Given the description of an element on the screen output the (x, y) to click on. 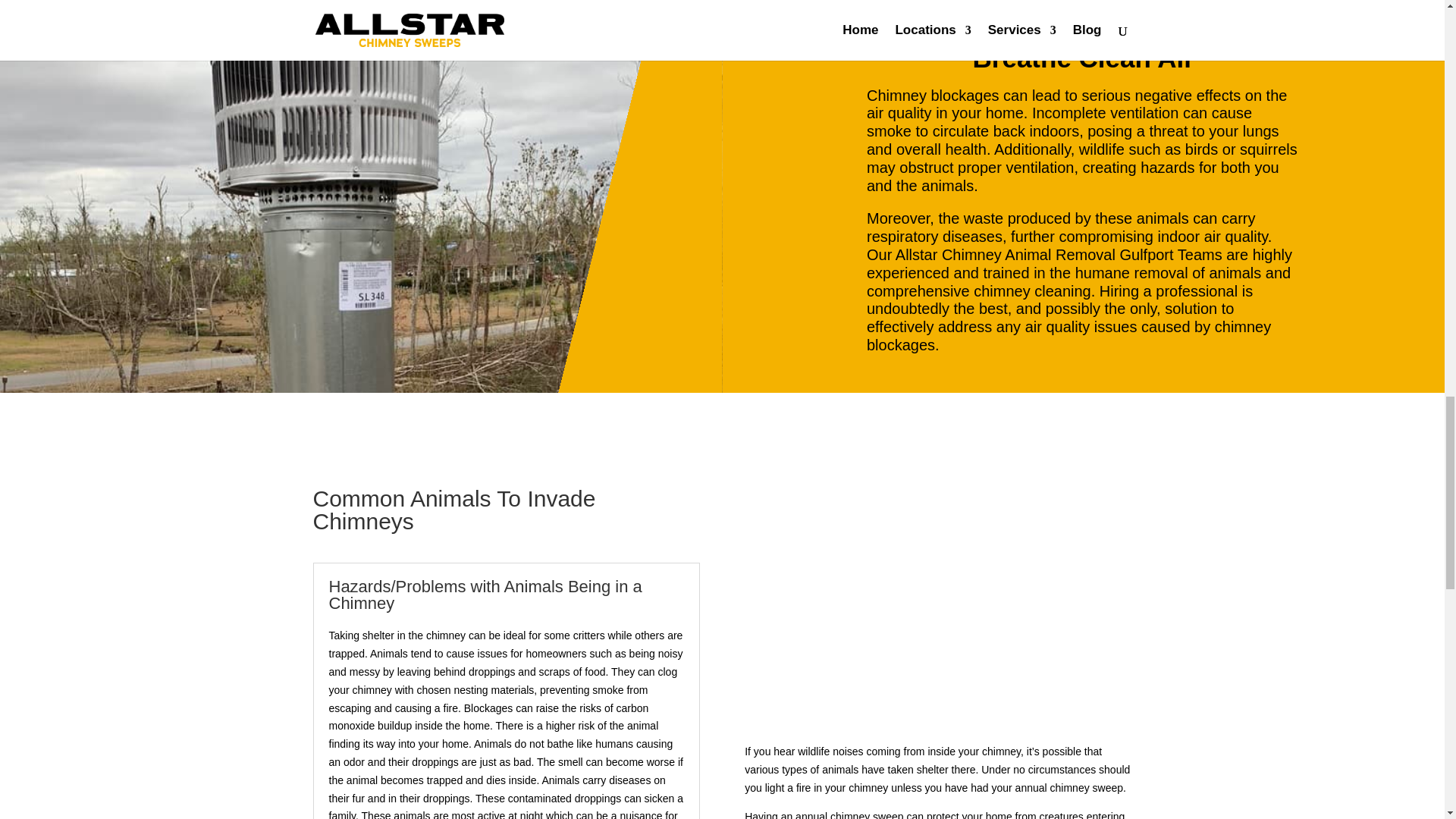
animals in chimney (934, 604)
